Given the description of an element on the screen output the (x, y) to click on. 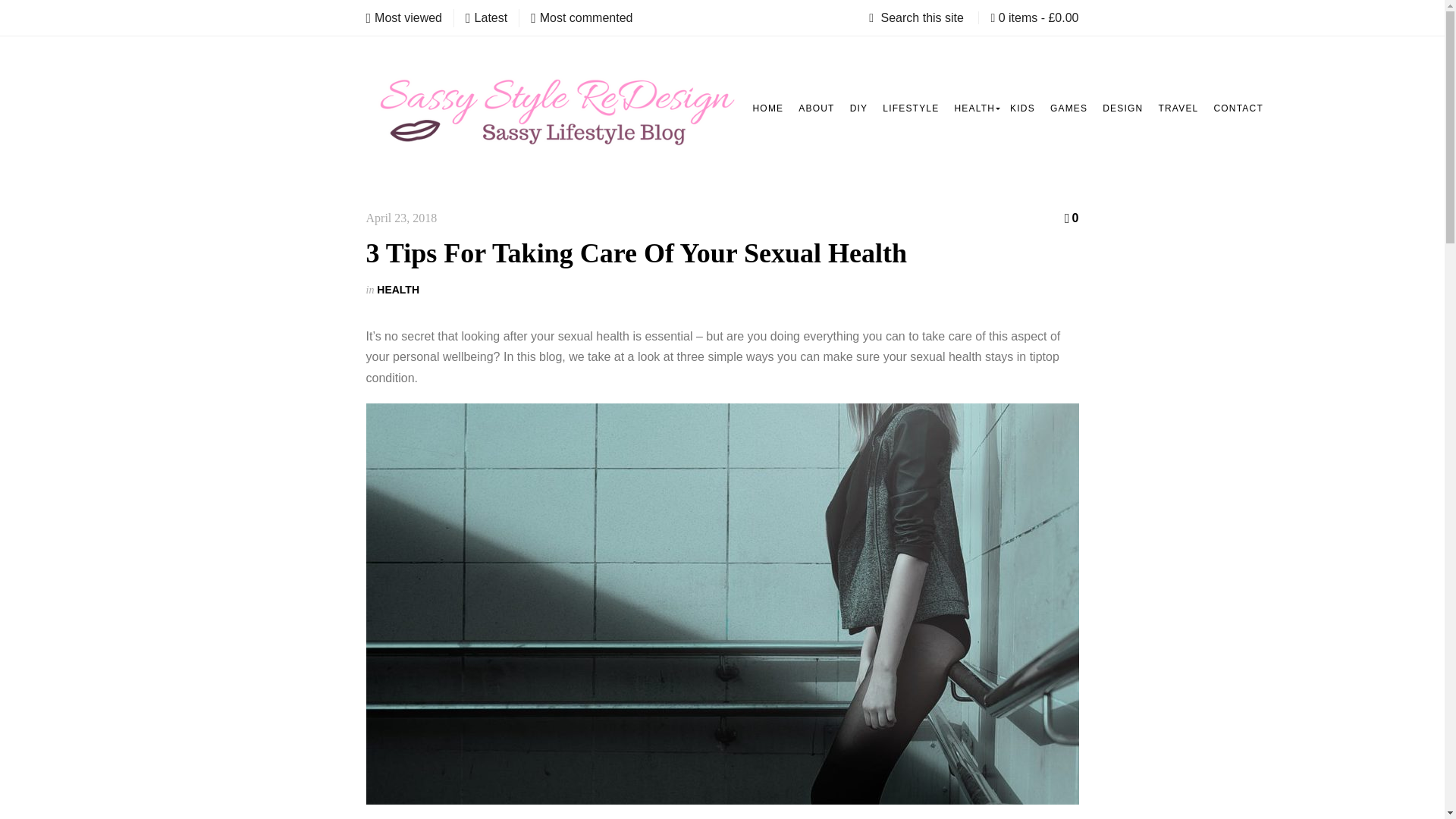
Latest (485, 18)
Most viewed (403, 18)
Search this site (917, 17)
Most commented (581, 18)
